Given the description of an element on the screen output the (x, y) to click on. 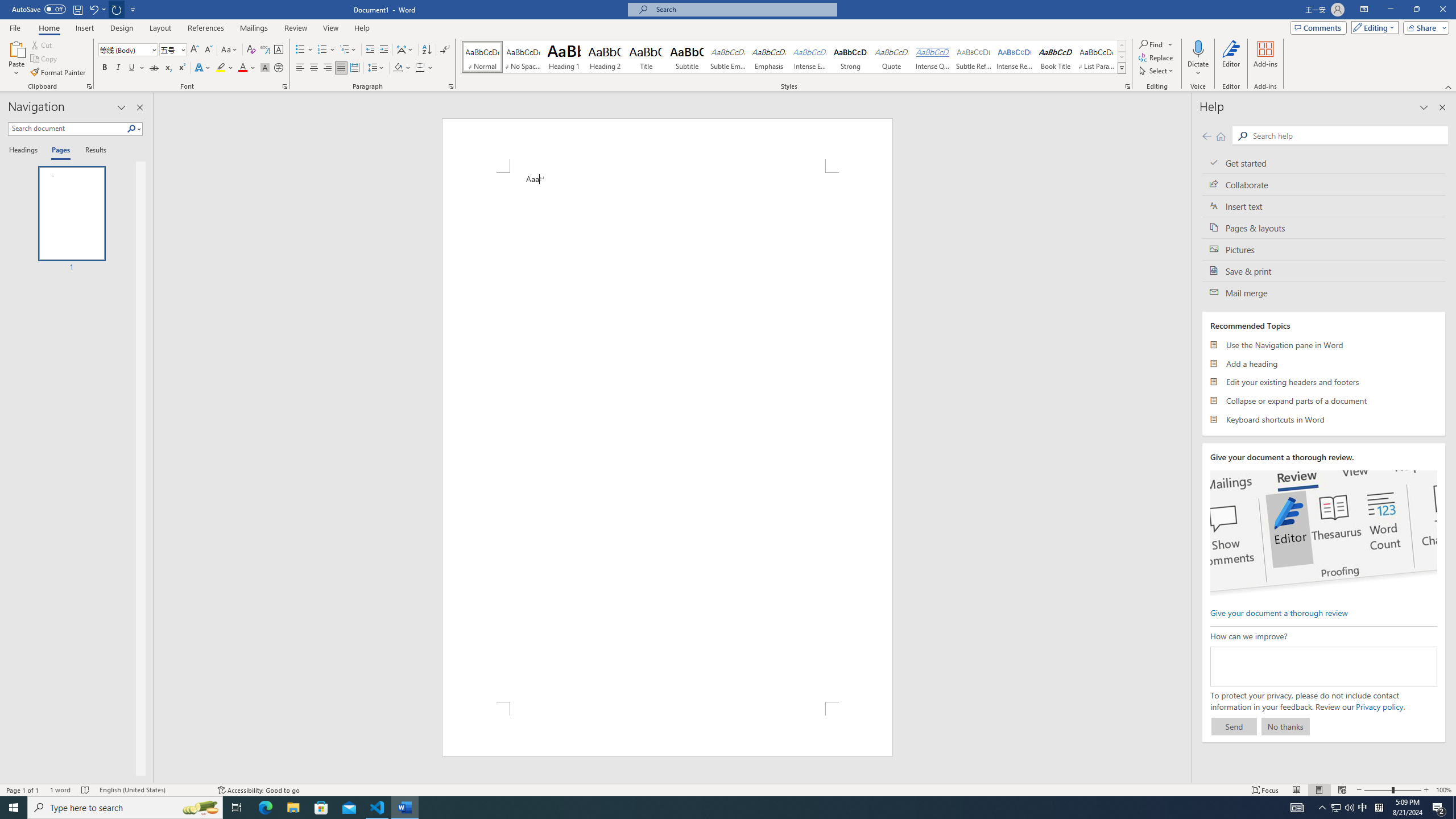
File Tab (15, 27)
Heading 1 (564, 56)
Focus  (1265, 790)
Mail merge (1323, 292)
Subtitle (686, 56)
Spelling and Grammar Check No Errors (85, 790)
Home (48, 28)
Borders (424, 67)
Mailings (253, 28)
